Given the description of an element on the screen output the (x, y) to click on. 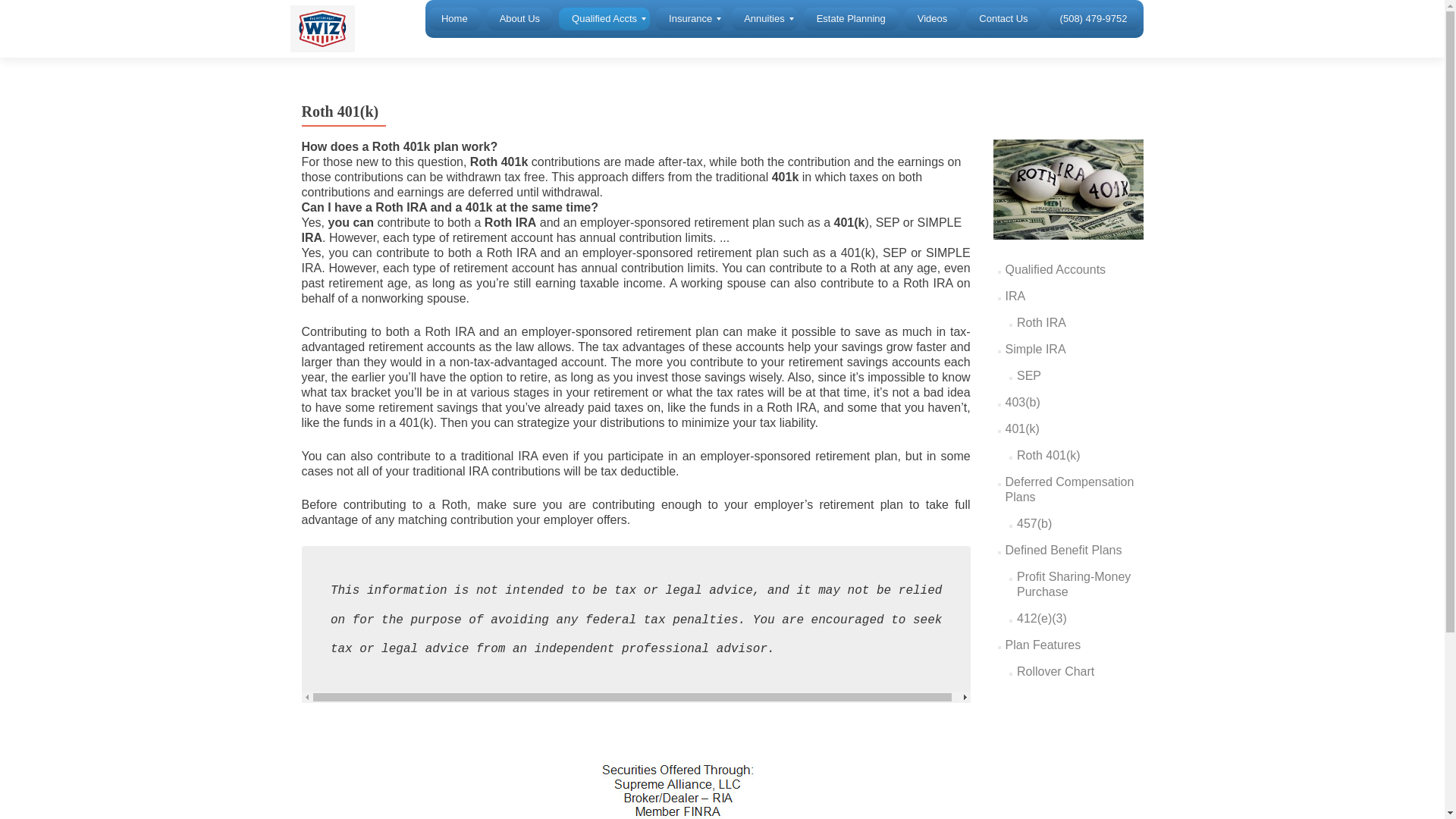
Home (454, 18)
Annuities (763, 18)
Qualified Accts (604, 18)
Insurance (690, 18)
About Us (519, 18)
